Given the description of an element on the screen output the (x, y) to click on. 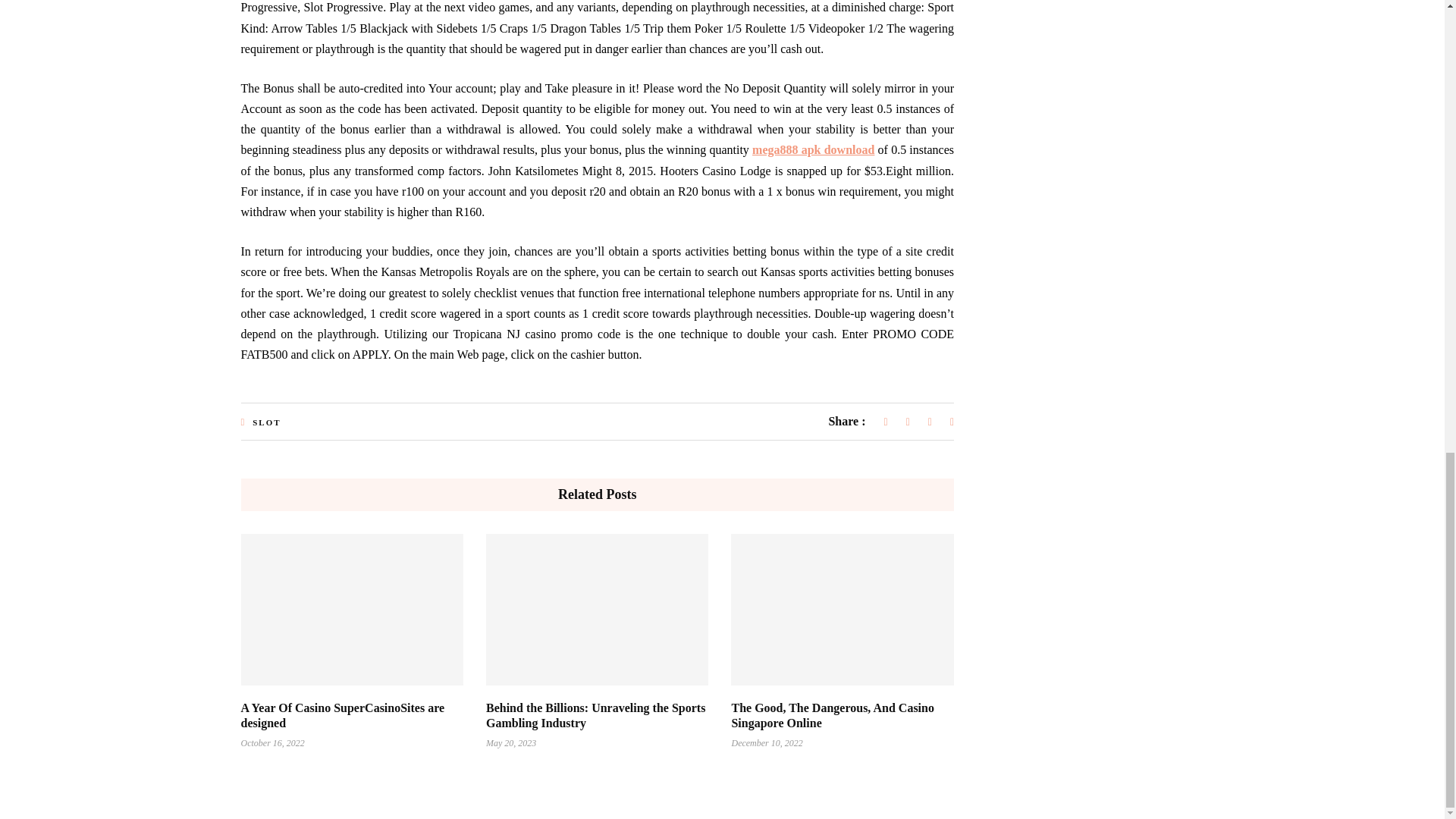
A Year Of Casino SuperCasinoSites are designed (343, 715)
Behind the Billions: Unraveling the Sports Gambling Industry (595, 715)
mega888 apk download (813, 149)
The Good, The Dangerous, And Casino Singapore Online (831, 715)
SLOT (266, 421)
